Given the description of an element on the screen output the (x, y) to click on. 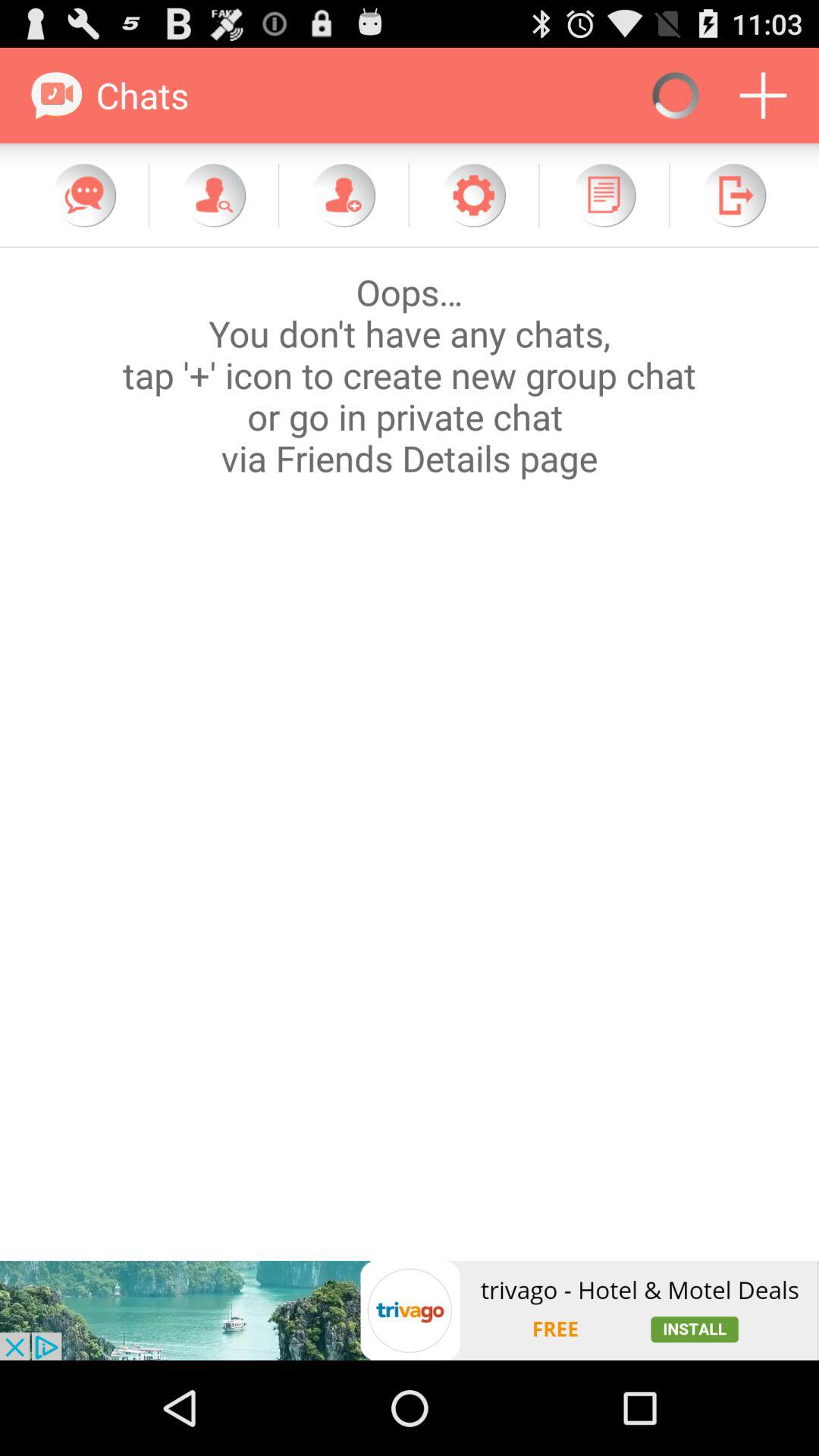
go to previous (734, 194)
